Given the description of an element on the screen output the (x, y) to click on. 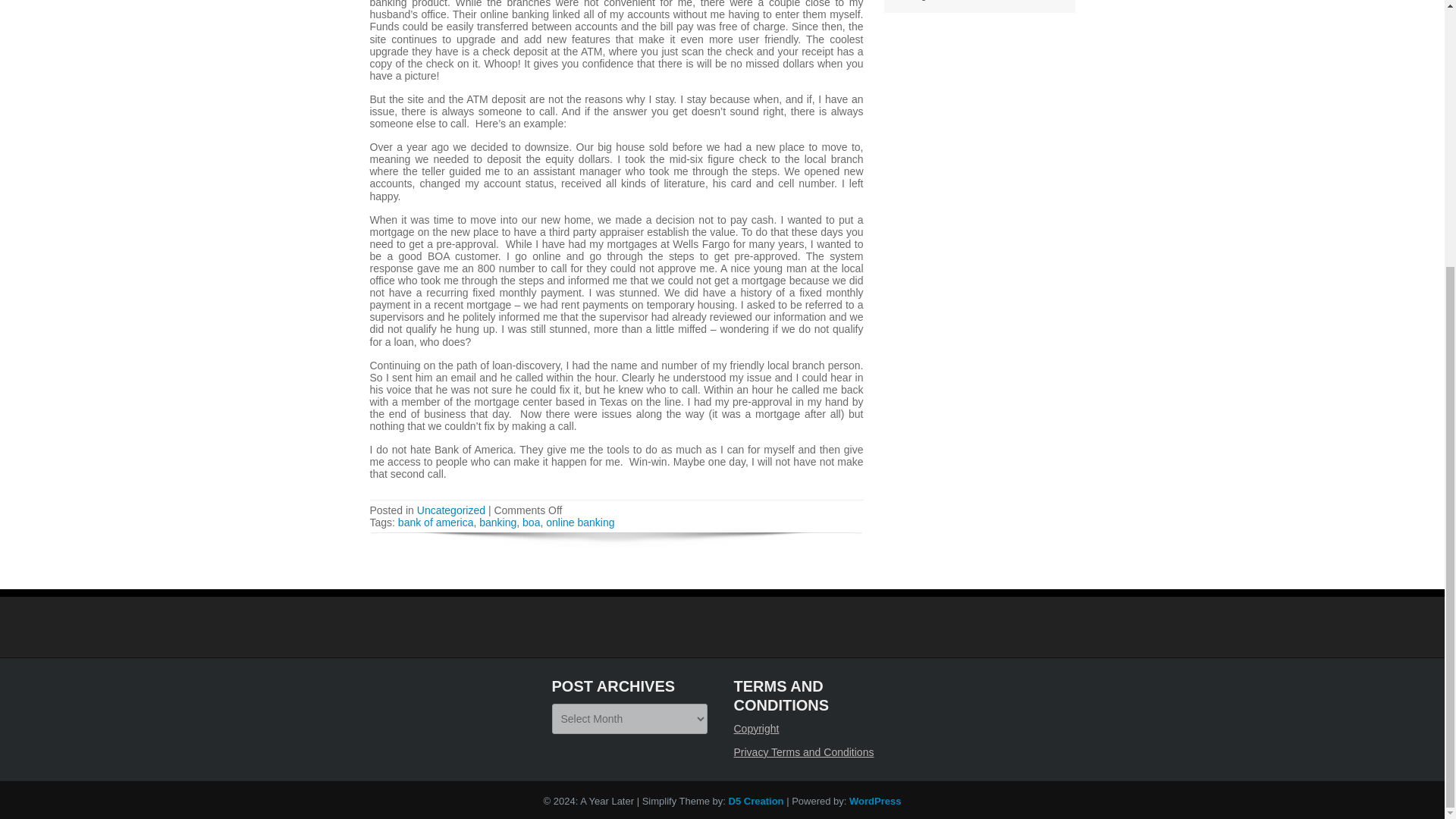
Privacy Terms and Conditions (804, 752)
boa (531, 522)
WordPress (874, 800)
Uncategorized (921, 0)
online banking (580, 522)
D5 Creation (756, 800)
Uncategorized (450, 509)
banking (497, 522)
Copyright (755, 728)
bank of america (435, 522)
